Given the description of an element on the screen output the (x, y) to click on. 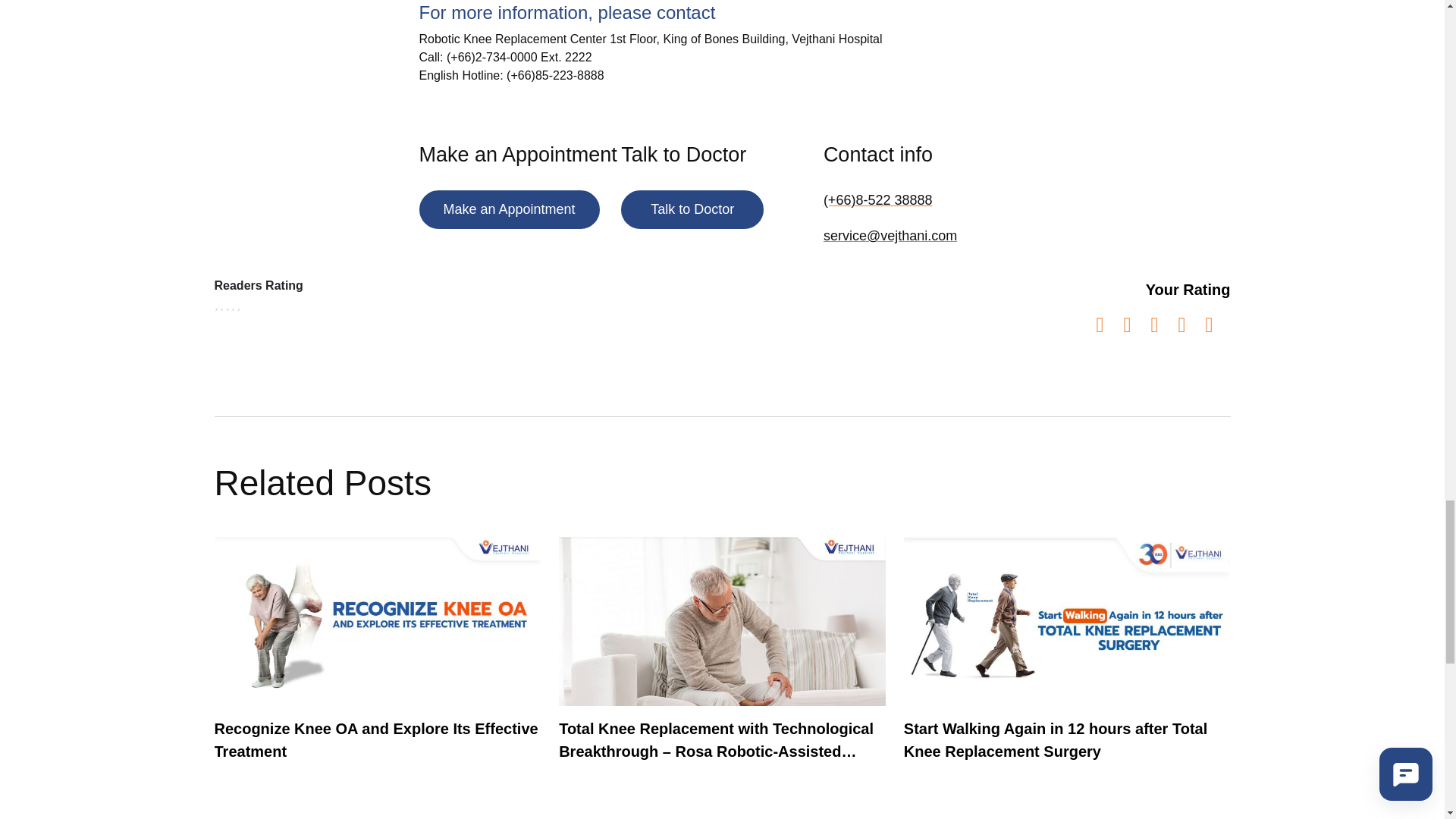
No Rating Yet! (227, 303)
